Given the description of an element on the screen output the (x, y) to click on. 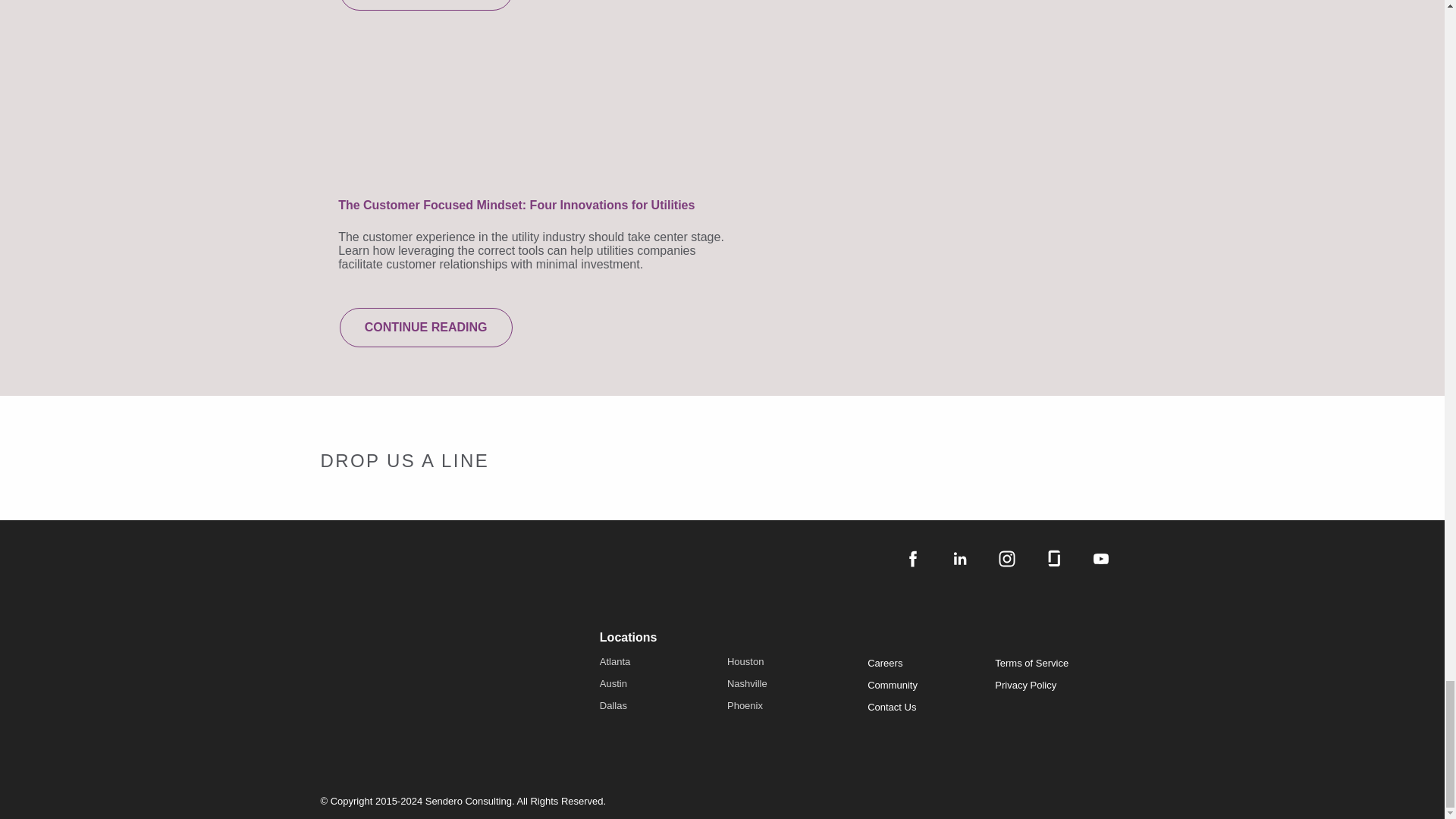
YouTube (1100, 558)
Instagram (1005, 558)
Facebook (912, 558)
LinkedIn (959, 558)
Glassdoor (1053, 558)
